Given the description of an element on the screen output the (x, y) to click on. 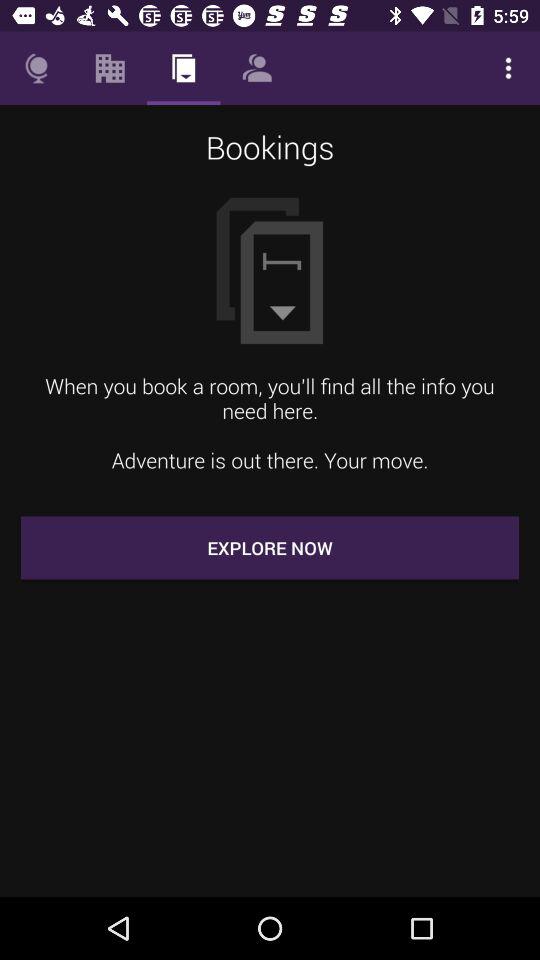
open the explore now (270, 547)
